Given the description of an element on the screen output the (x, y) to click on. 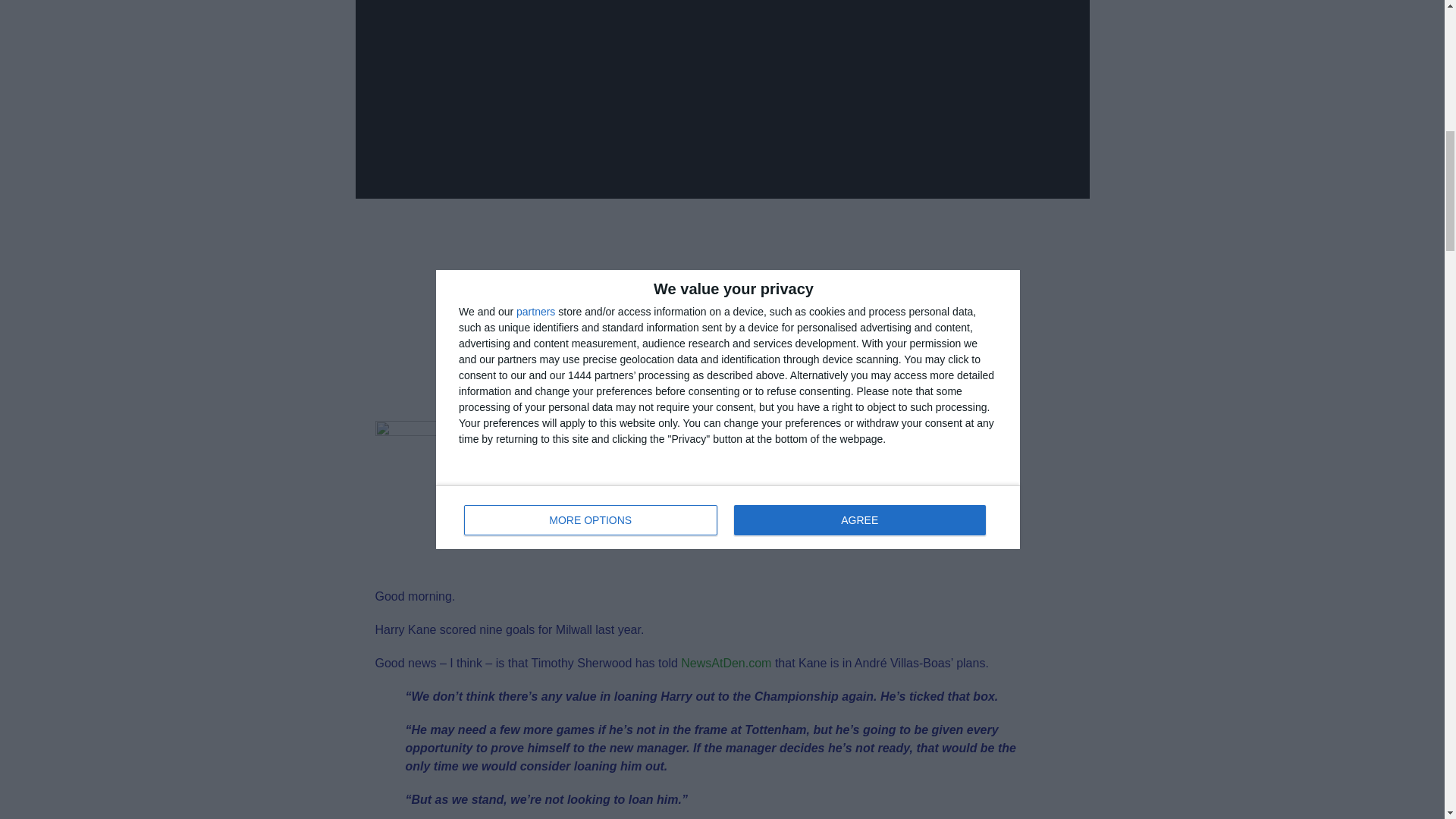
NewsAtDen.com (726, 662)
boing (449, 495)
